Given the description of an element on the screen output the (x, y) to click on. 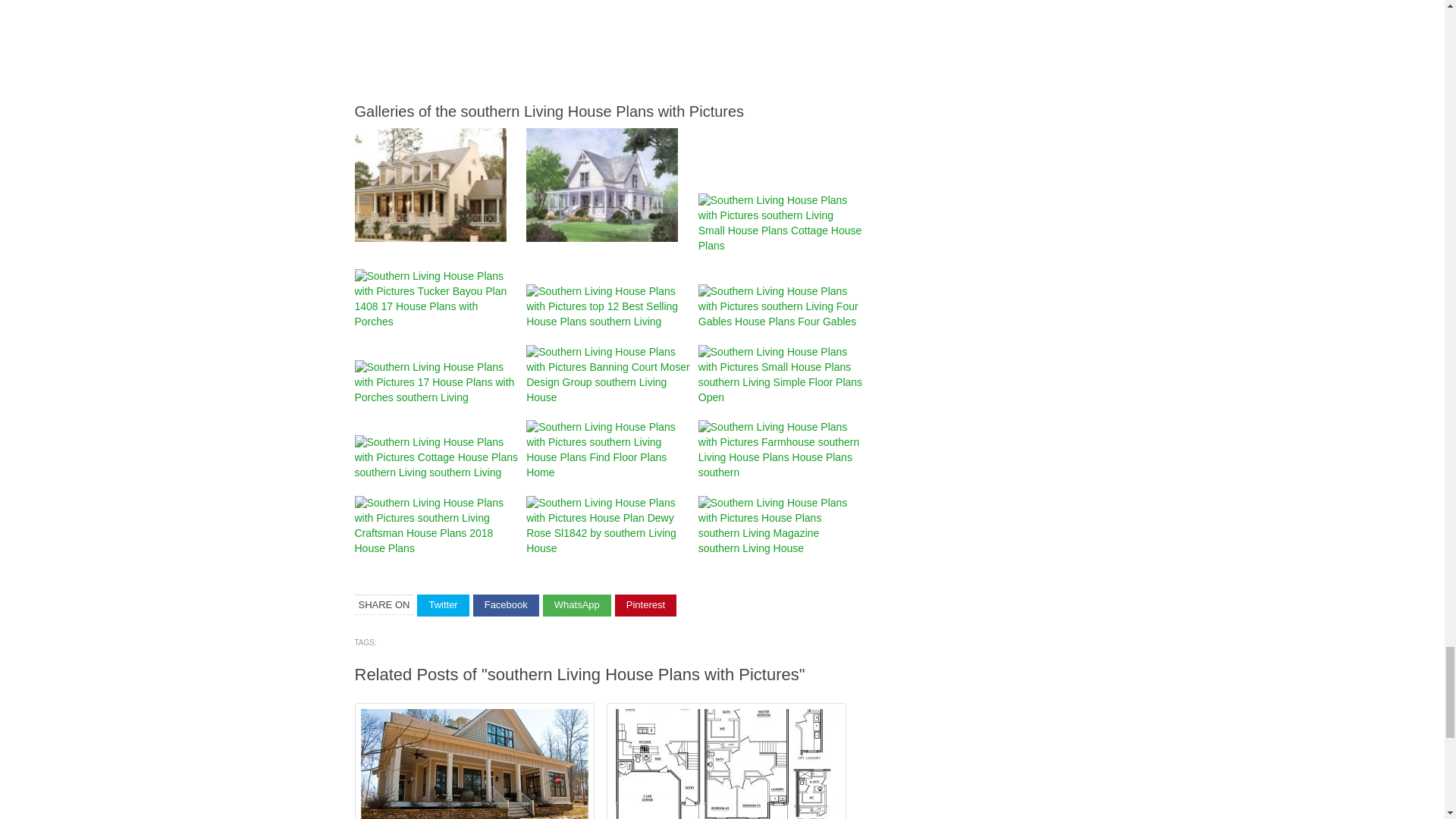
Facebook (505, 605)
WhatsApp (577, 605)
Twitter (442, 605)
Pinterest (645, 605)
